Given the description of an element on the screen output the (x, y) to click on. 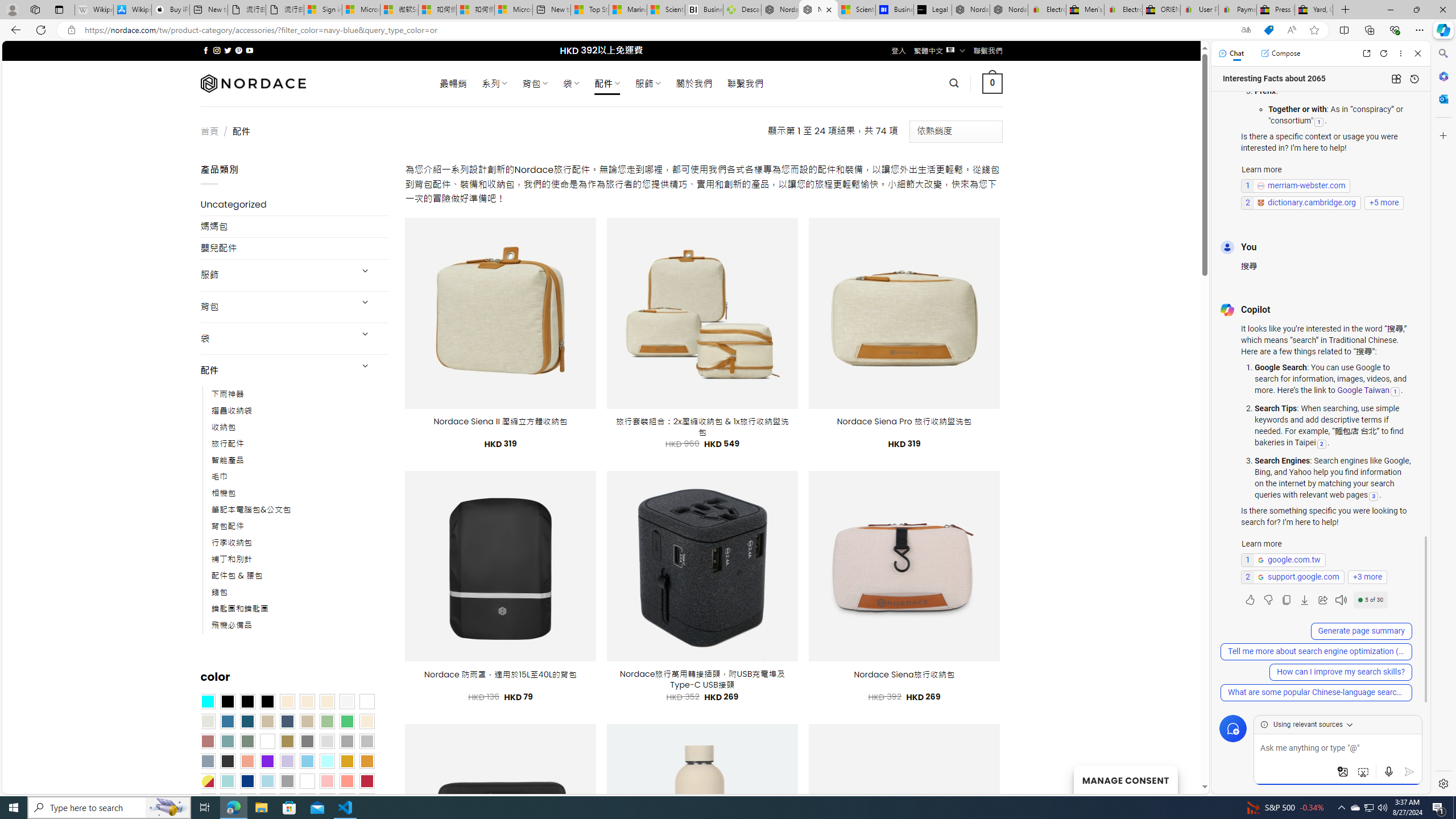
Follow on Pinterest (237, 50)
Follow on Instagram (216, 50)
